Given the description of an element on the screen output the (x, y) to click on. 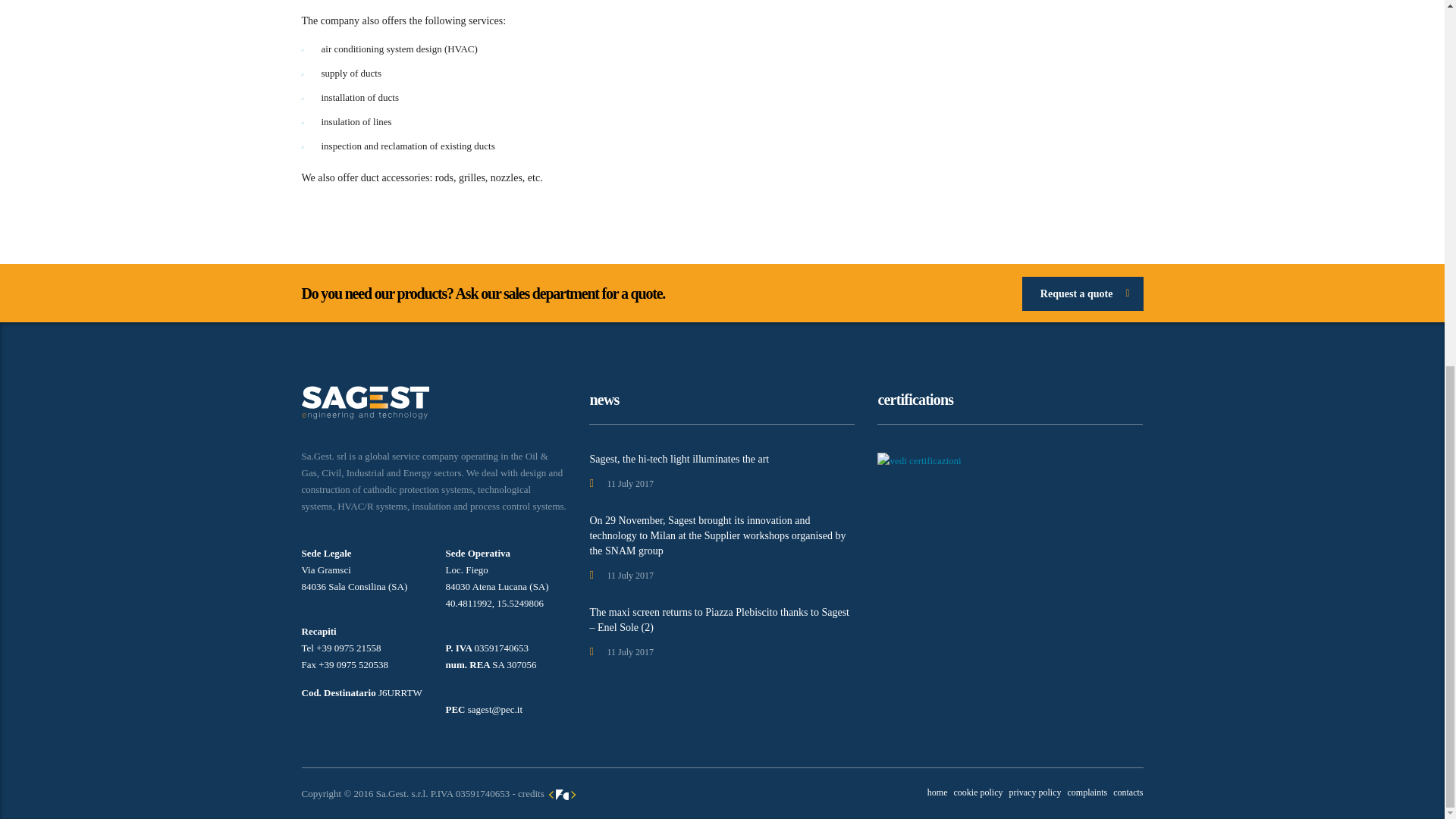
see certifications (918, 460)
richiedi preventivo (1082, 293)
